Given the description of an element on the screen output the (x, y) to click on. 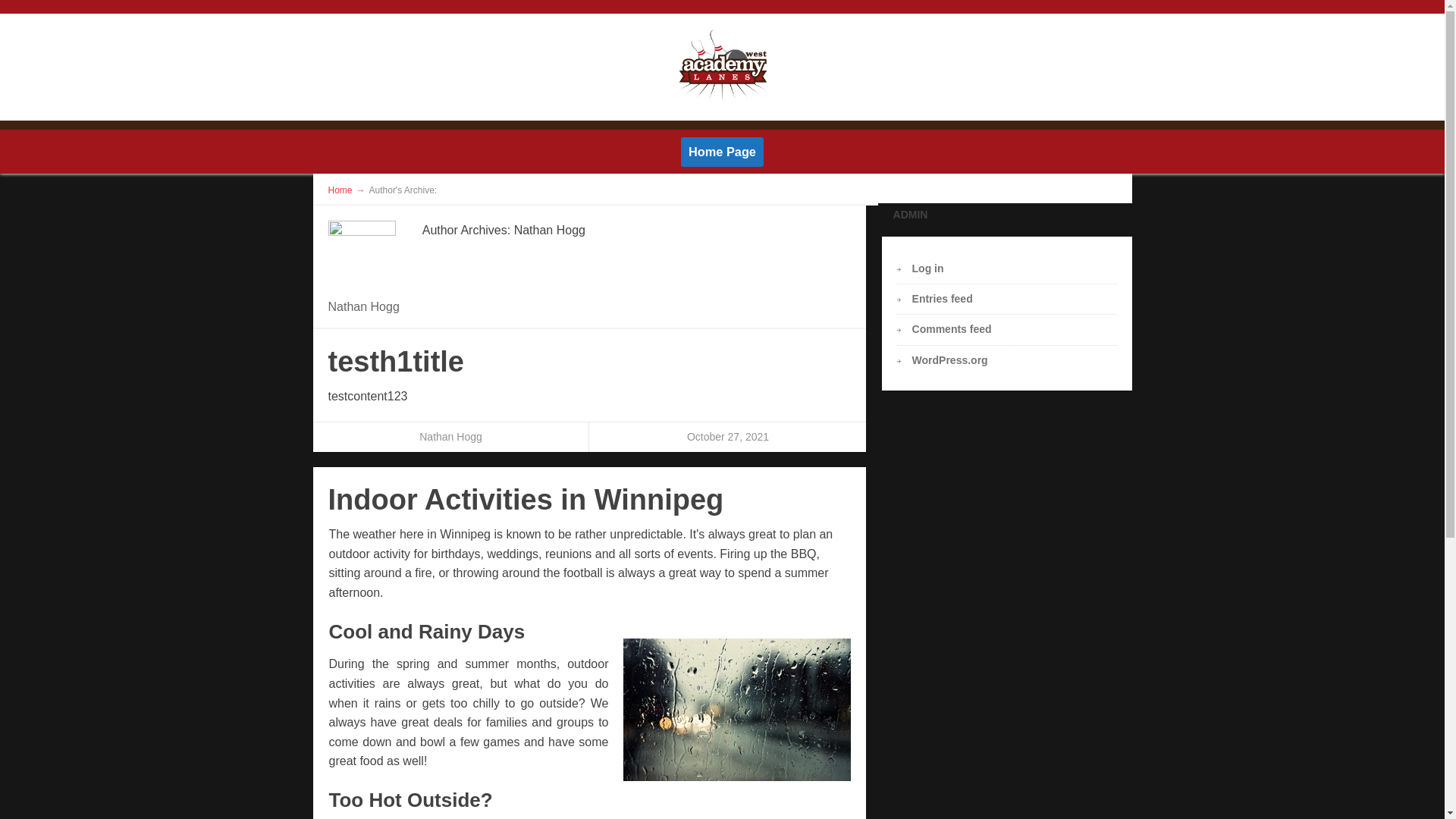
WordPress.org Element type: text (950, 360)
Comments feed Element type: text (951, 329)
testh1title Element type: text (395, 361)
Nathan Hogg Element type: text (450, 436)
Home Page Element type: text (721, 151)
Log in Element type: text (928, 268)
Indoor Activities in Winnipeg Element type: text (525, 499)
Entries feed Element type: text (942, 298)
raining Element type: hover (736, 709)
